Given the description of an element on the screen output the (x, y) to click on. 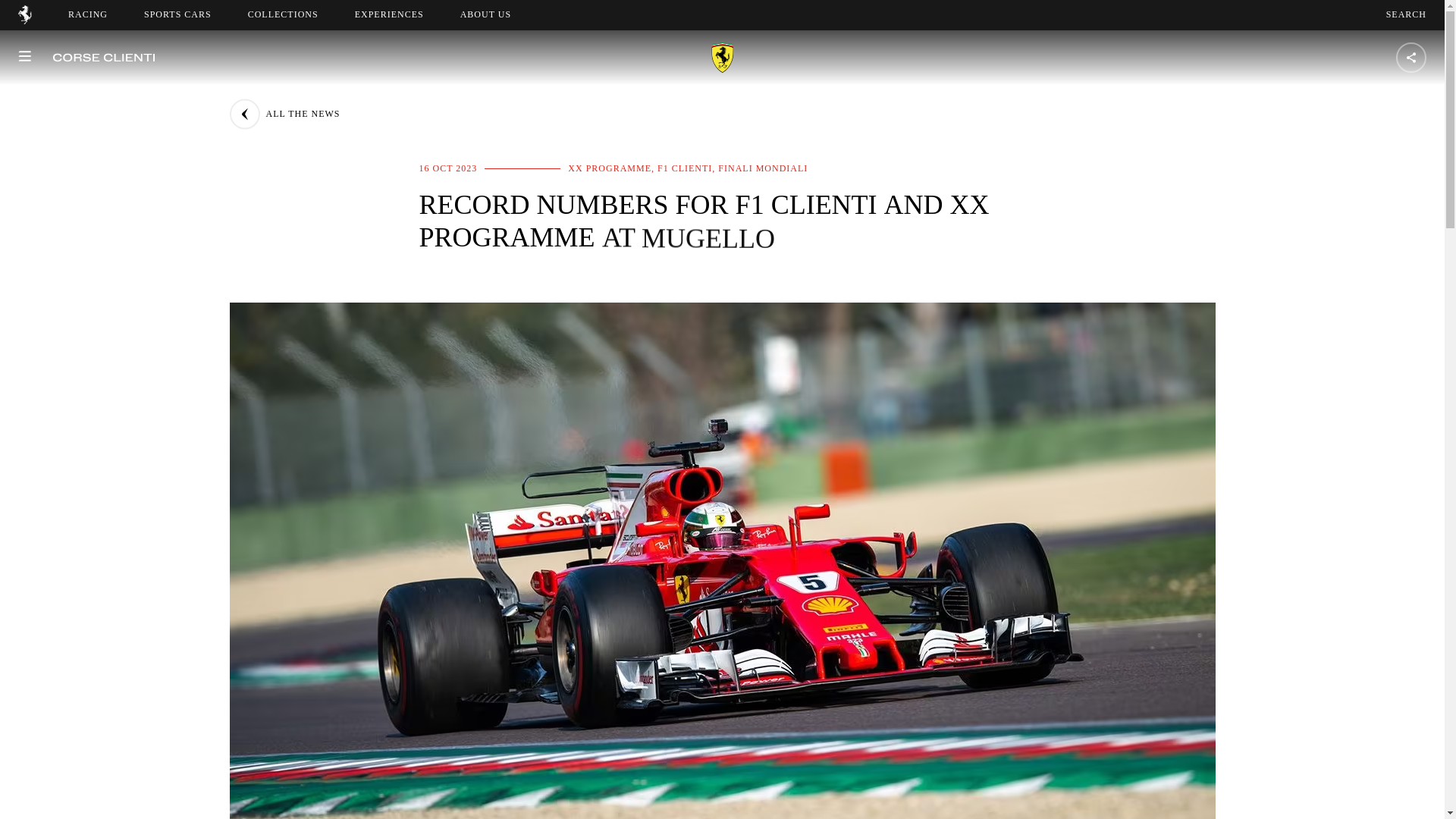
EXPERIENCES (389, 14)
RACING (87, 14)
SEARCH (1406, 14)
ALL THE NEWS (283, 114)
SPORTS CARS (499, 14)
COLLECTIONS (177, 14)
Ferrari logo (282, 14)
ABOUT US (24, 19)
